Given the description of an element on the screen output the (x, y) to click on. 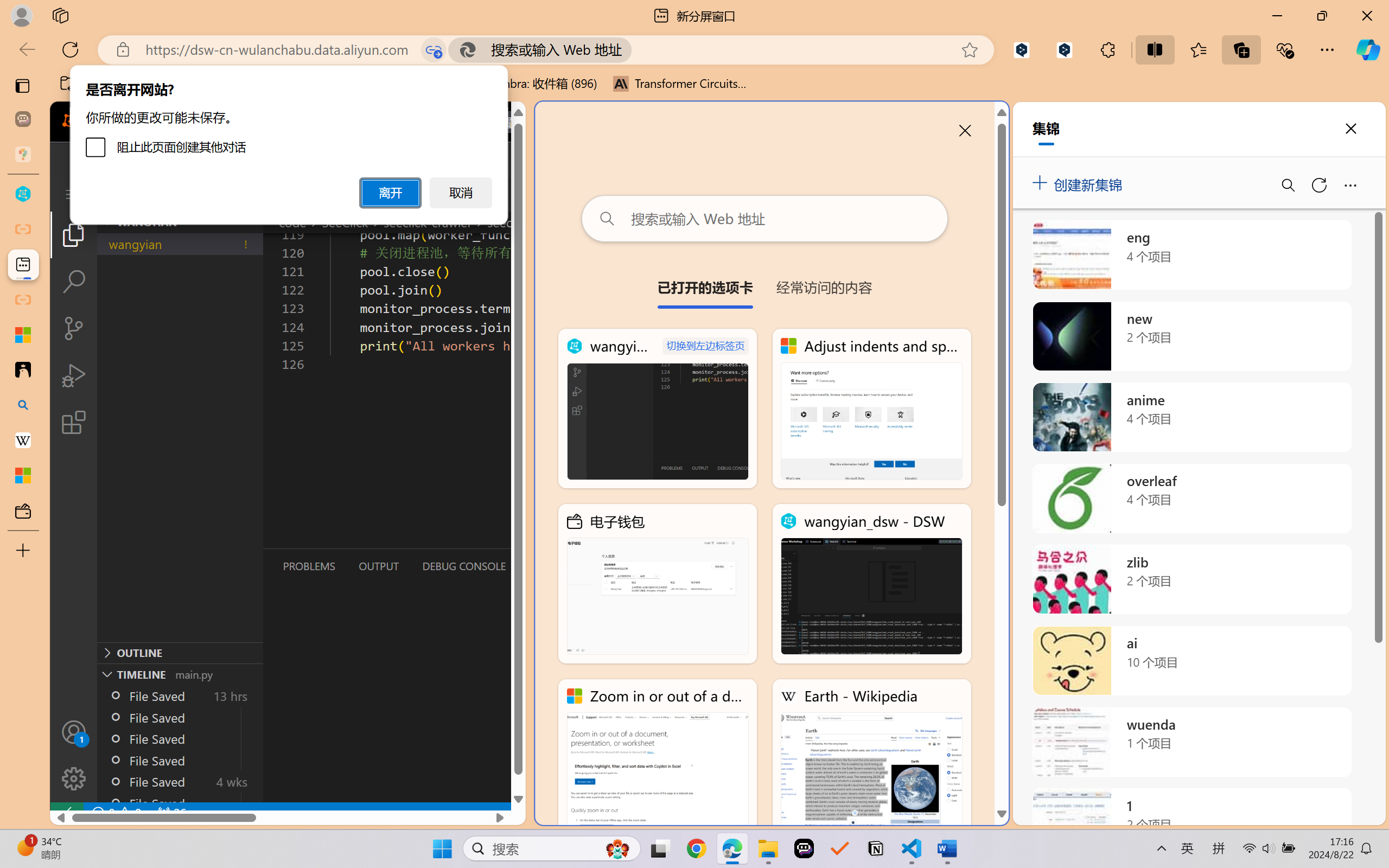
Adjust indents and spacing - Microsoft Support (871, 408)
Problems (Ctrl+Shift+M) (308, 565)
